Given the description of an element on the screen output the (x, y) to click on. 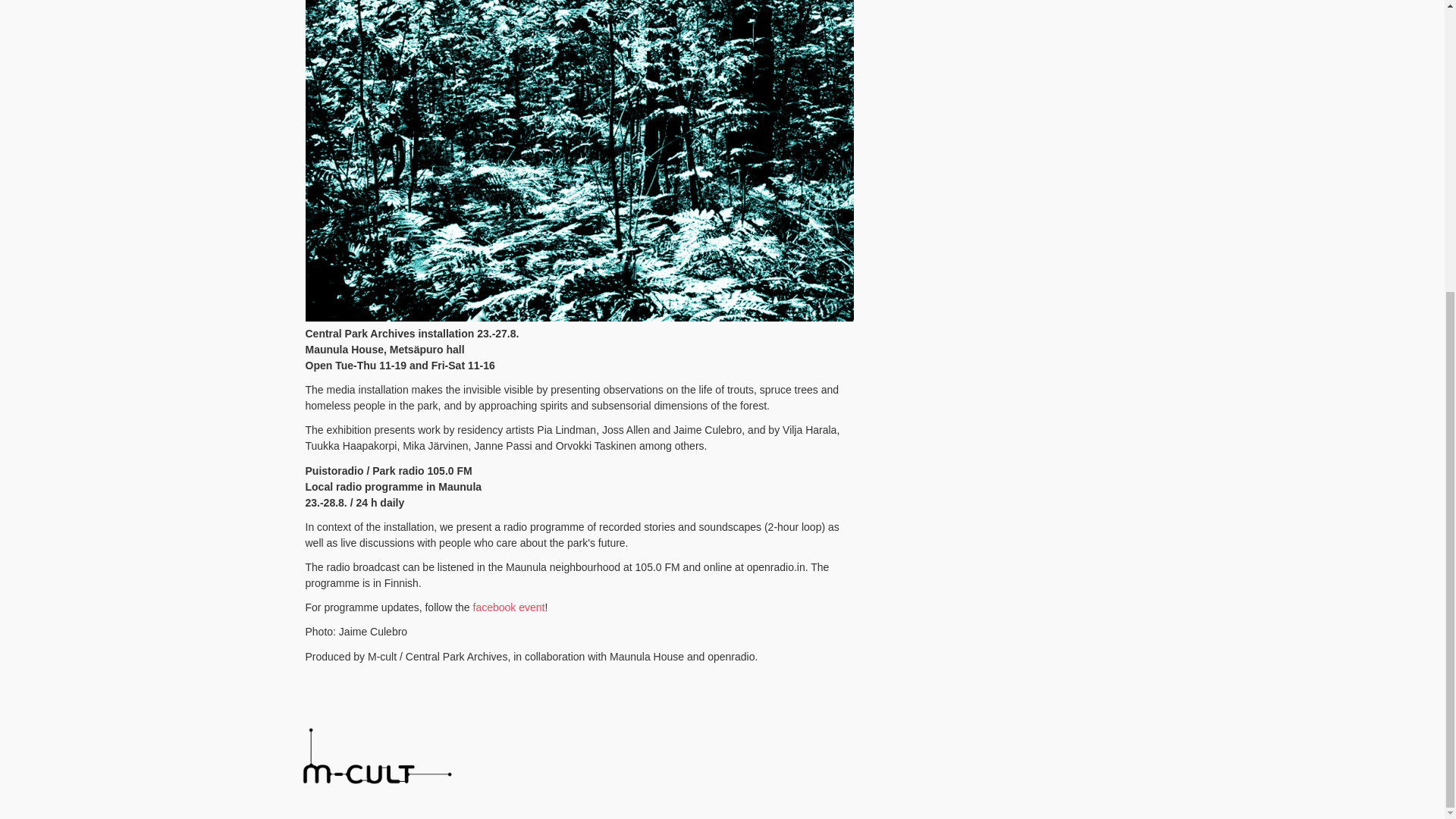
facebook event (508, 607)
